Given the description of an element on the screen output the (x, y) to click on. 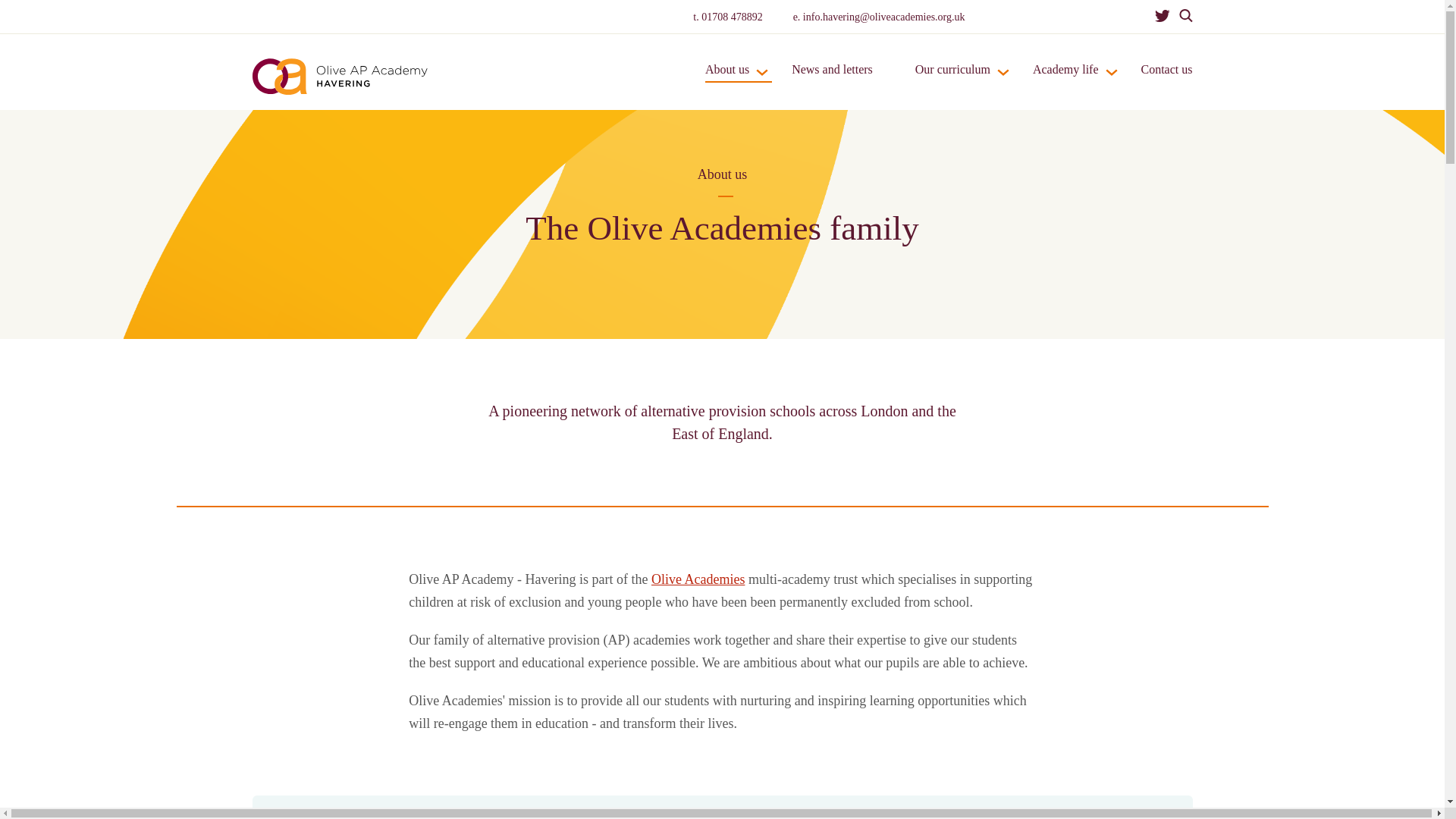
t. 01708 478892 (727, 16)
News and letters (832, 81)
Academy life (1065, 81)
Our curriculum (952, 81)
About us (726, 81)
